Given the description of an element on the screen output the (x, y) to click on. 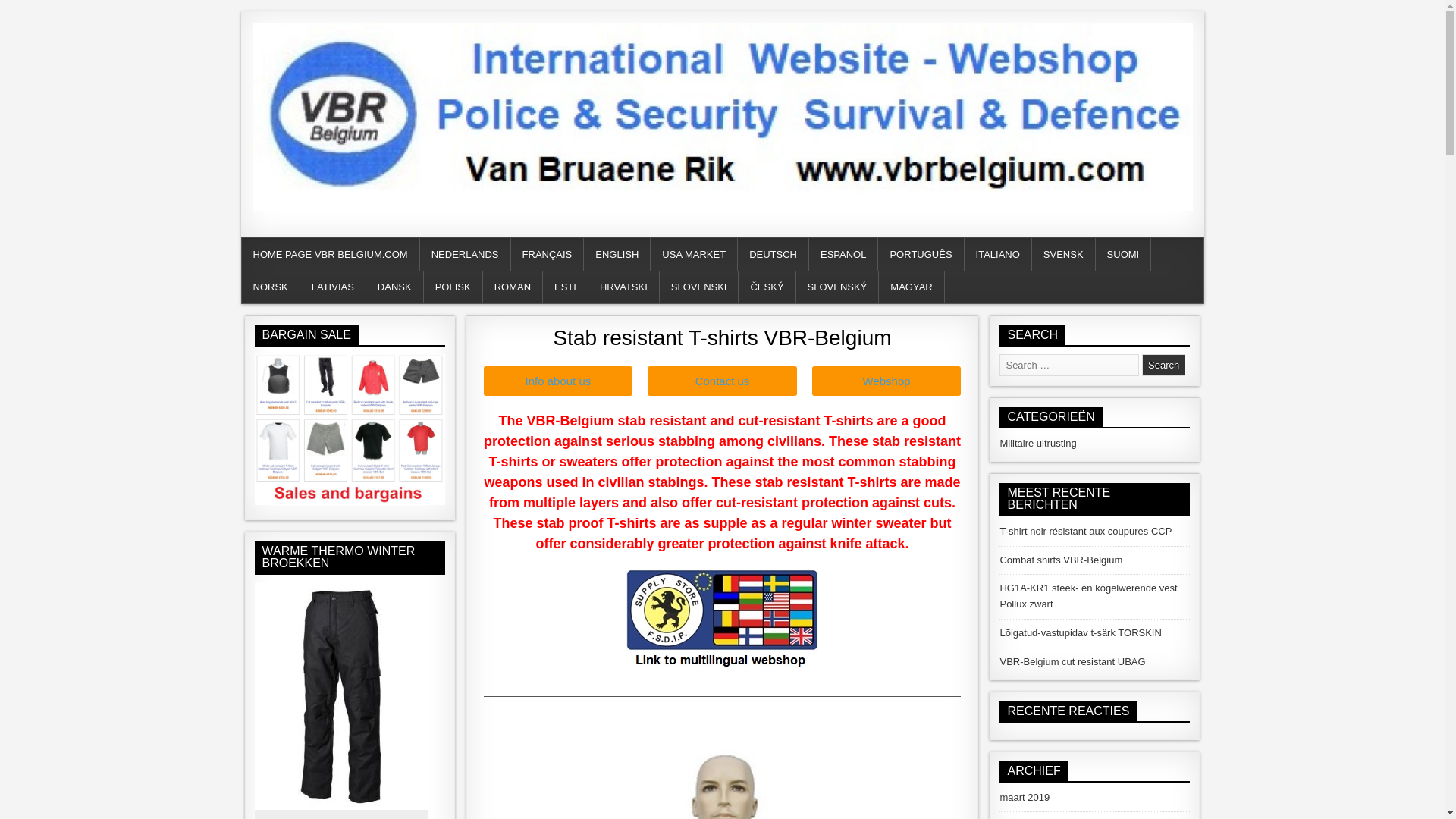
SUOMI (1123, 254)
DANSK (394, 287)
Stab resistant T-shirts VBR-Belgium (722, 337)
MAGYAR (911, 287)
DEUTSCH (773, 254)
Webshop (886, 380)
ESTI (565, 287)
USA MARKET (694, 254)
SVENSK (1064, 254)
HRVATSKI (623, 287)
vbrbelgium.com (321, 230)
Search (1163, 364)
ENGLISH (616, 254)
ITALIANO (997, 254)
Info about us (558, 380)
